Given the description of an element on the screen output the (x, y) to click on. 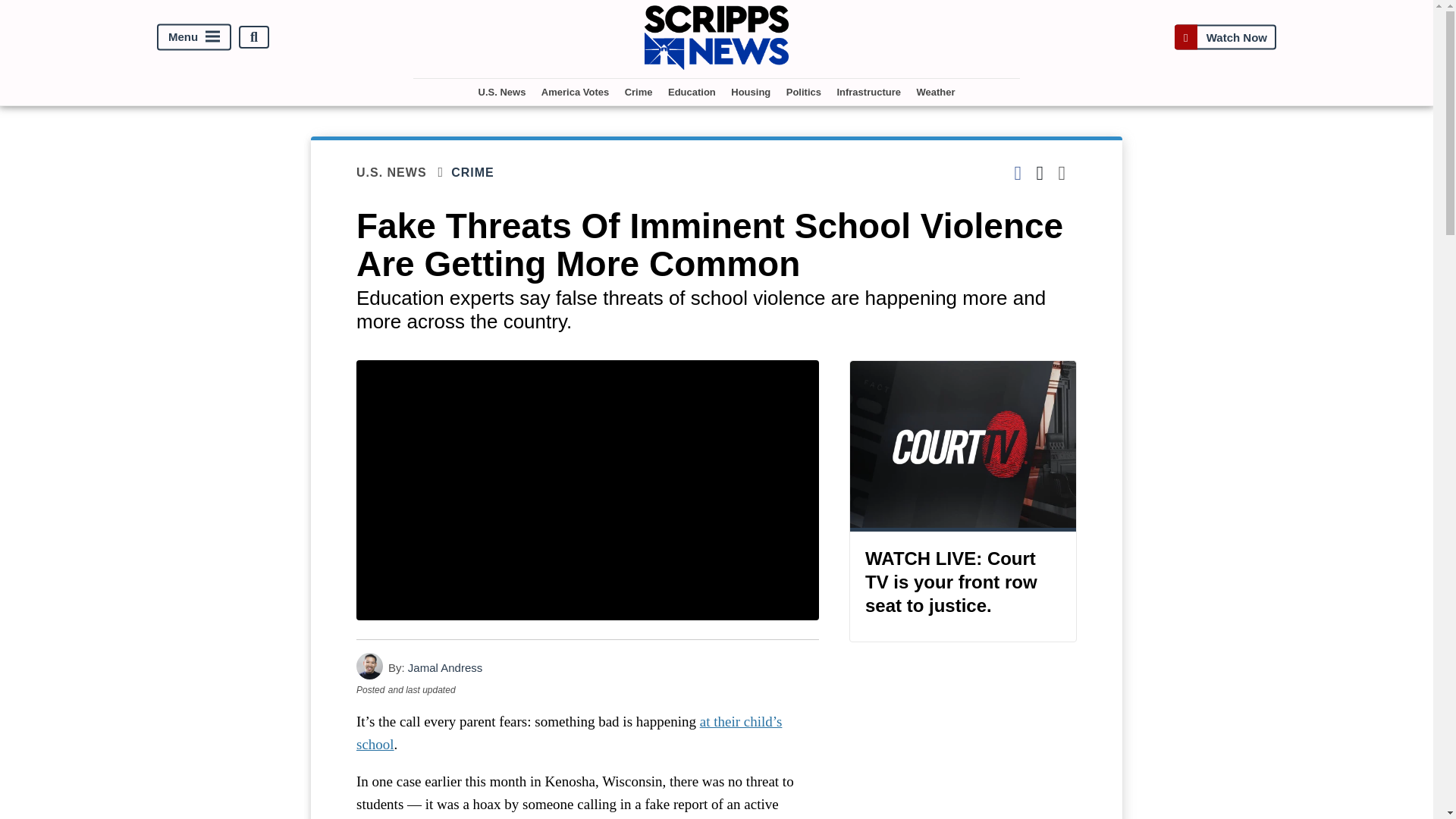
Watch Now (1224, 37)
Menu (194, 37)
